Given the description of an element on the screen output the (x, y) to click on. 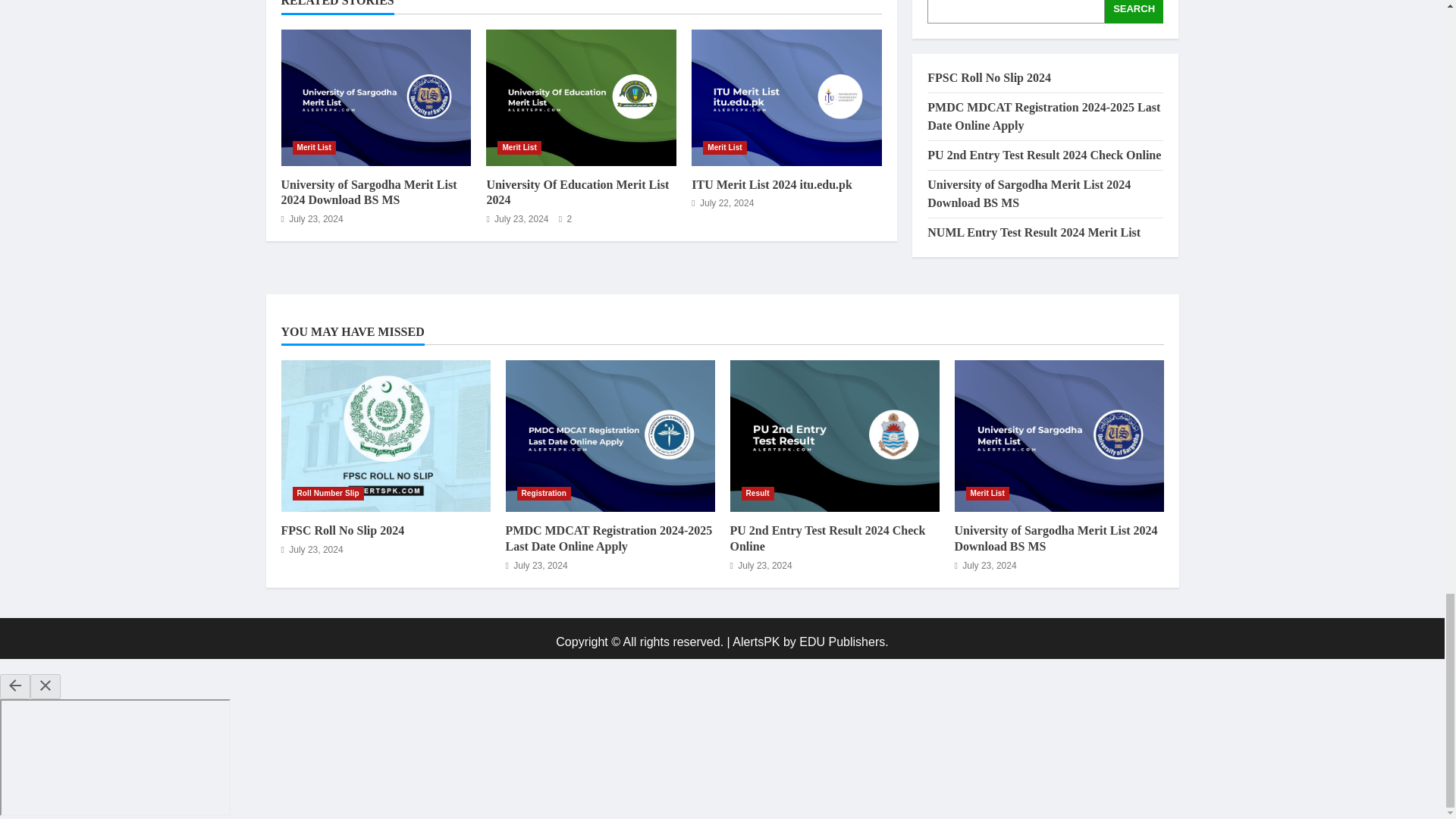
ITU Merit List 2024 itu.edu.pk (771, 184)
2 (565, 218)
ITU Merit List 2024 itu.edu.pk (786, 97)
University Of Education Merit List 2024 (581, 97)
Merit List (724, 147)
Merit List (518, 147)
Merit List (314, 147)
University Of Education Merit List 2024 (577, 192)
University of Sargodha Merit List 2024 Download BS MS (369, 192)
University of Sargodha Merit List 2024 Download BS MS (375, 97)
